Given the description of an element on the screen output the (x, y) to click on. 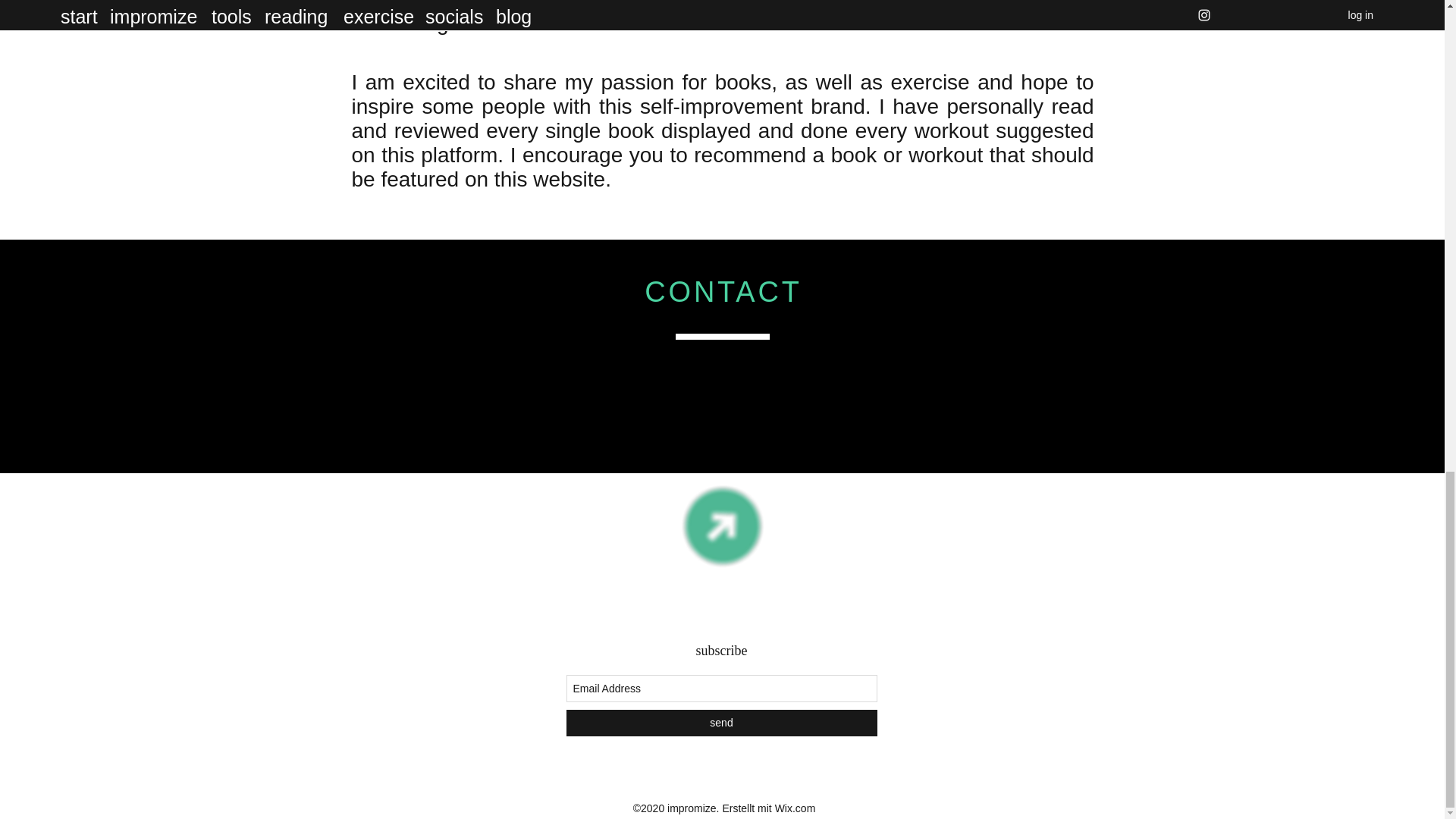
send (721, 723)
